Given the description of an element on the screen output the (x, y) to click on. 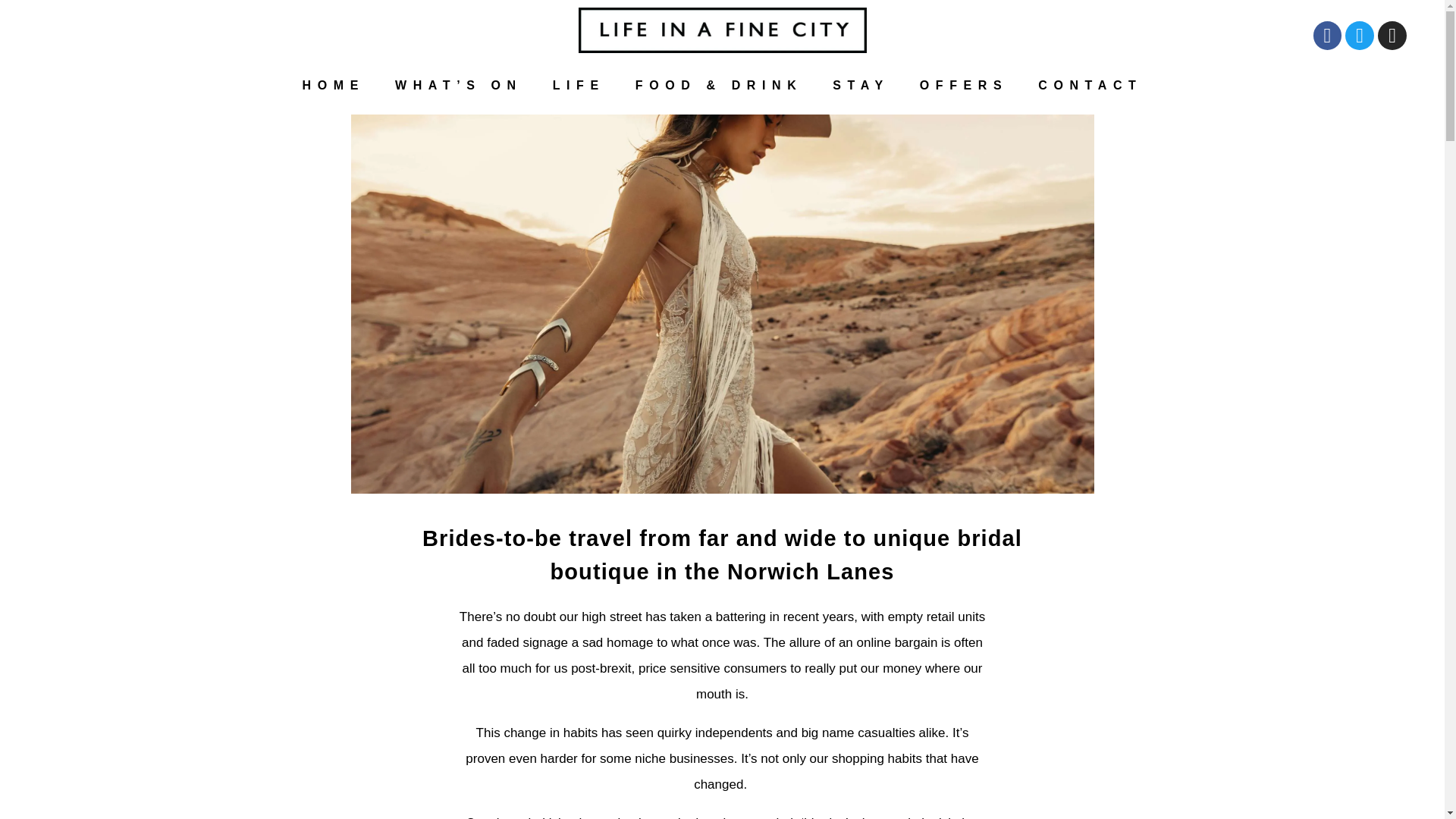
CONTACT (1090, 85)
OFFERS (963, 85)
LIFE (578, 85)
STAY (860, 85)
HOME (333, 85)
